Given the description of an element on the screen output the (x, y) to click on. 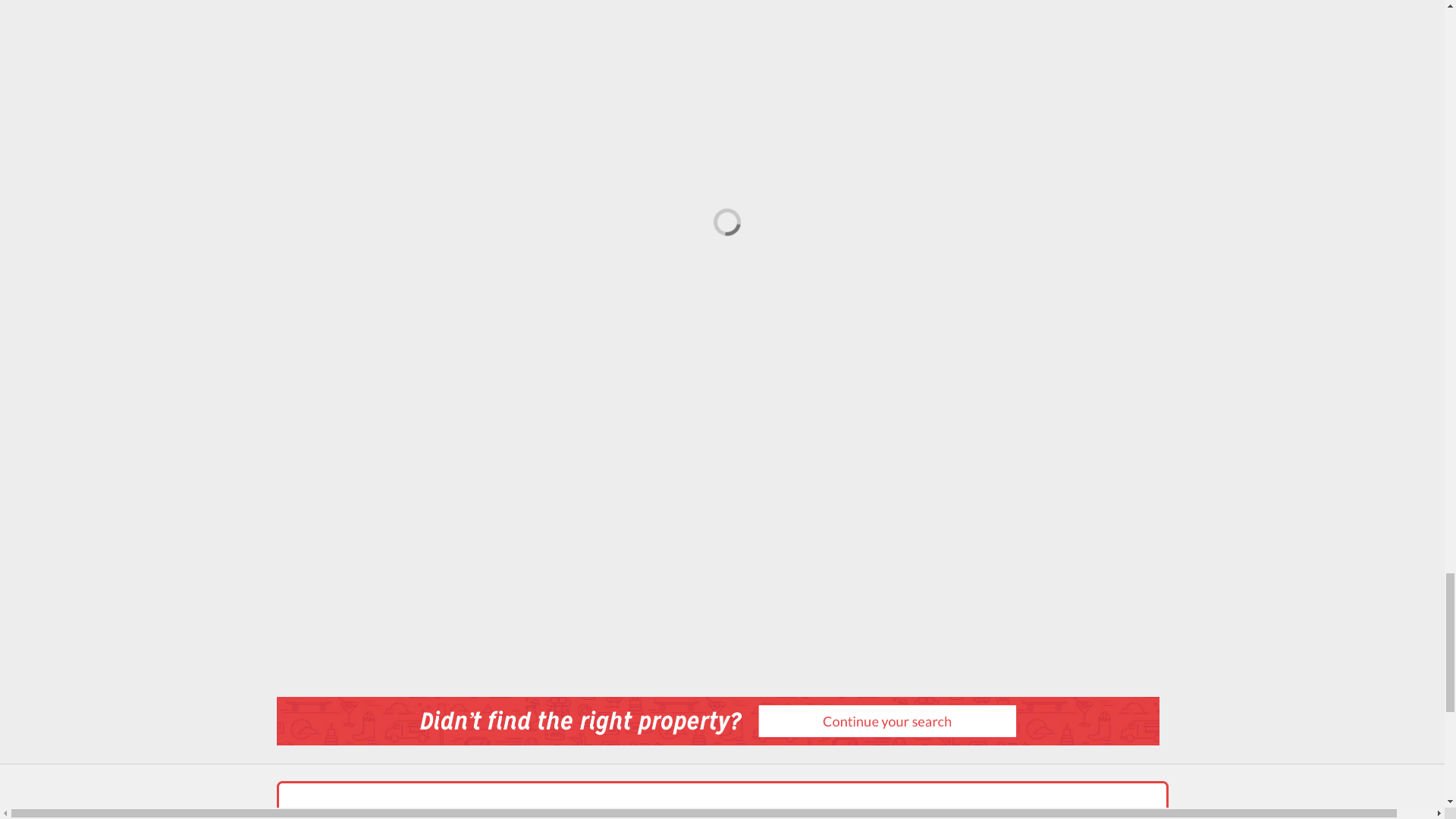
Loading... (721, 216)
